Given the description of an element on the screen output the (x, y) to click on. 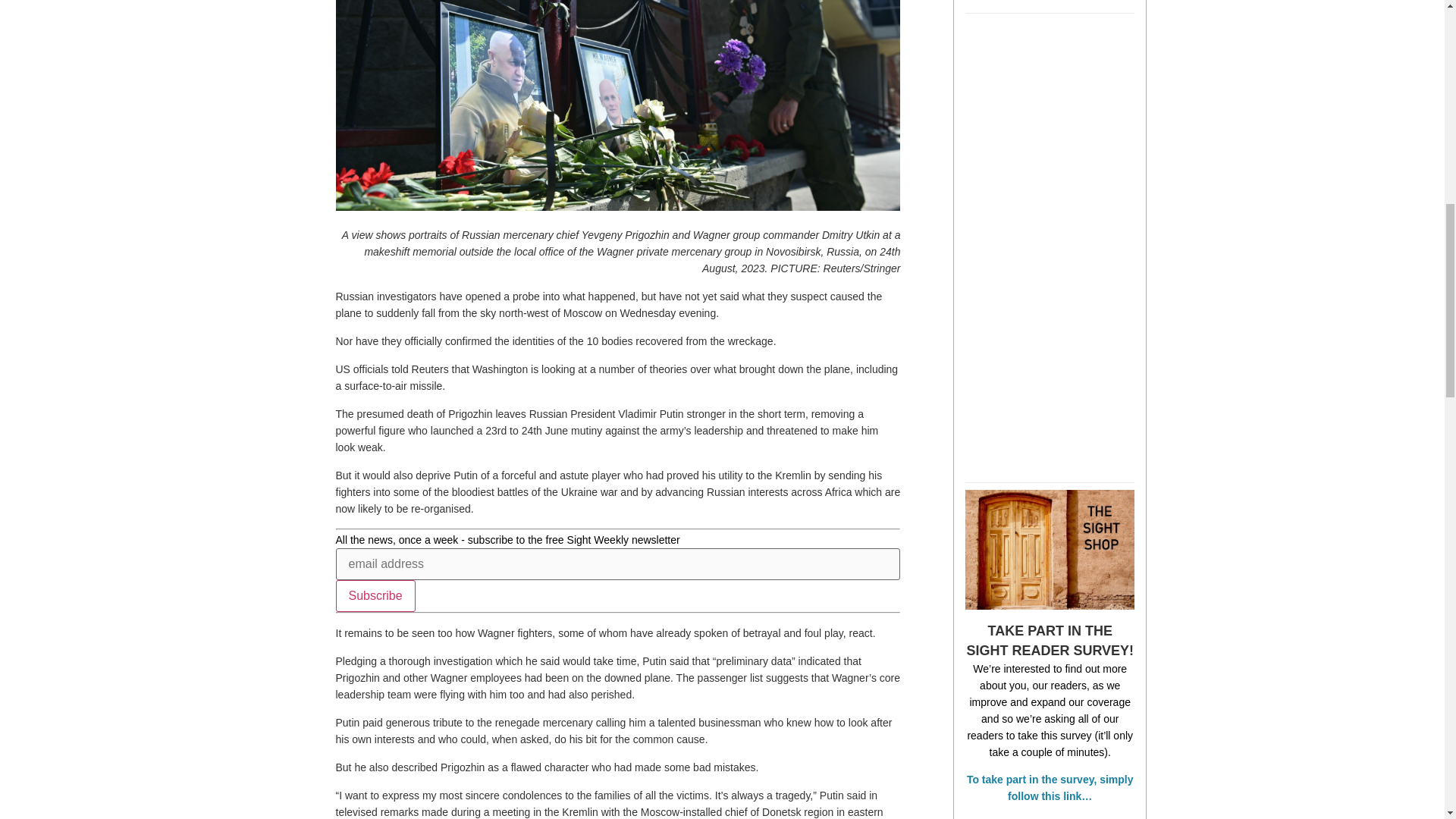
Subscribe (374, 595)
